Given the description of an element on the screen output the (x, y) to click on. 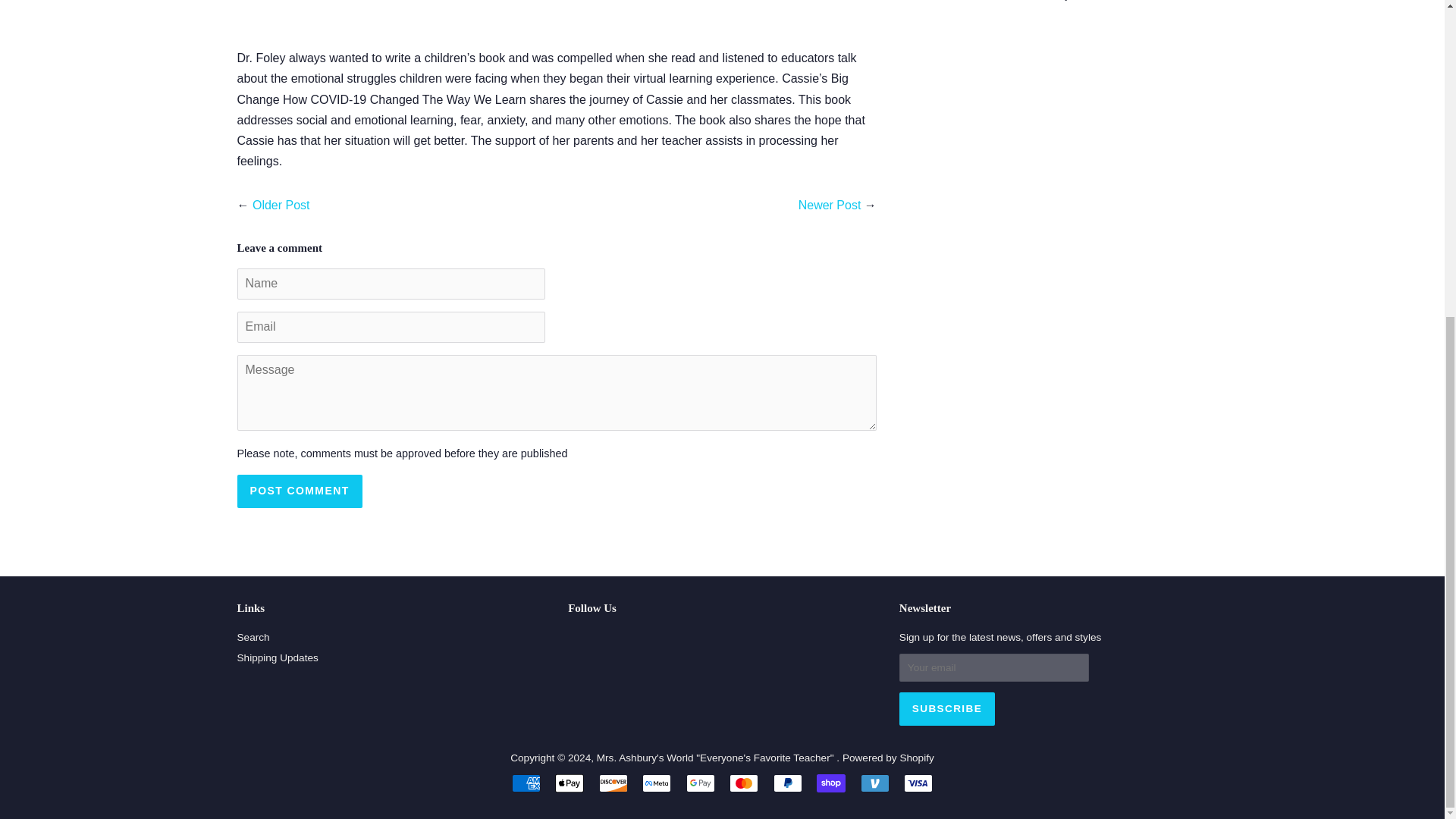
Discover (612, 782)
Post comment (298, 491)
Mastercard (743, 782)
Visa (918, 782)
Apple Pay (568, 782)
Shop Pay (830, 782)
Venmo (874, 782)
PayPal (787, 782)
Meta Pay (656, 782)
American Express (526, 782)
